Given the description of an element on the screen output the (x, y) to click on. 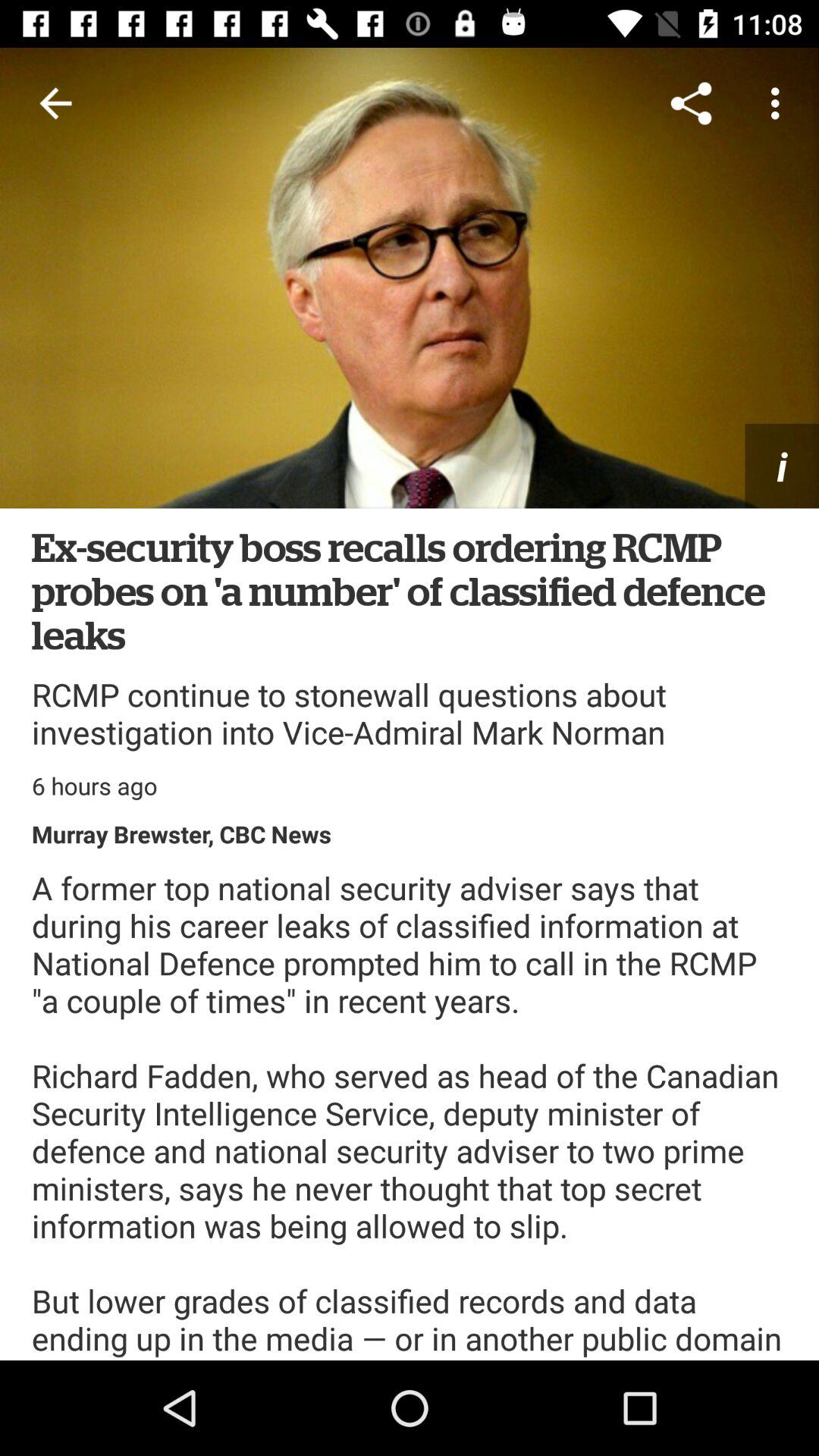
jump to the 6 hours ago icon (94, 785)
